Given the description of an element on the screen output the (x, y) to click on. 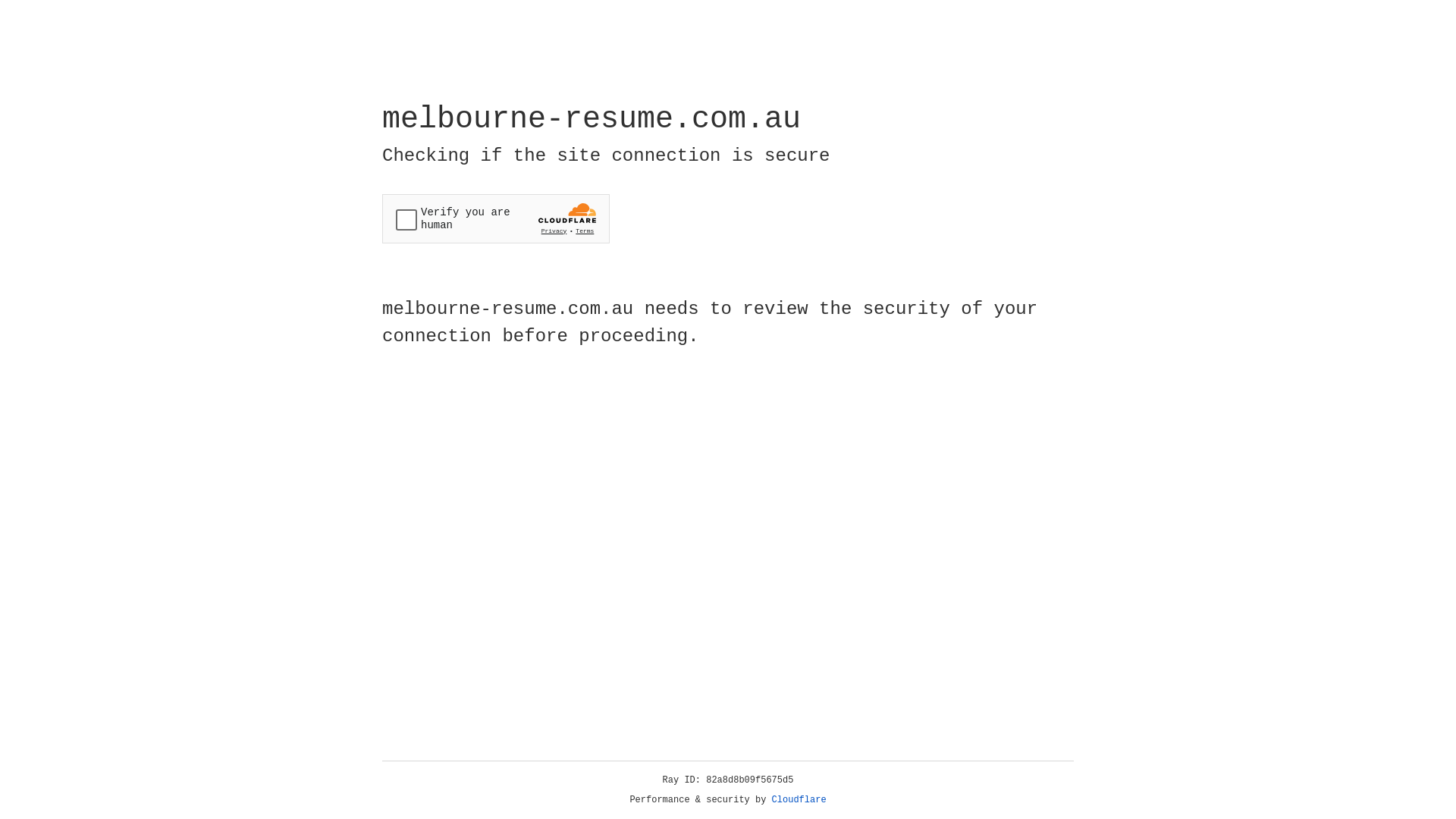
Cloudflare Element type: text (798, 799)
Widget containing a Cloudflare security challenge Element type: hover (495, 218)
